Given the description of an element on the screen output the (x, y) to click on. 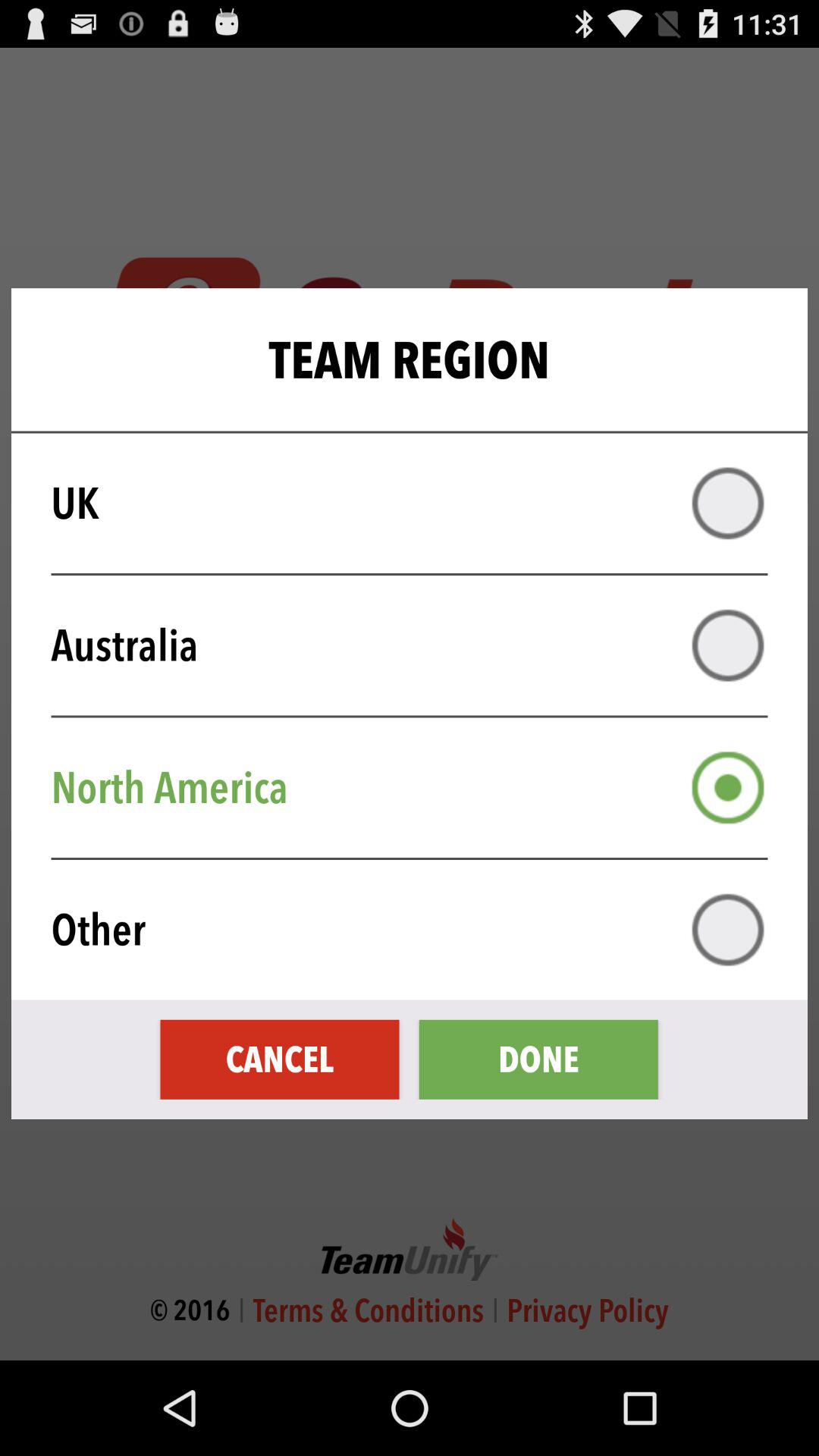
click the australia item (419, 645)
